Given the description of an element on the screen output the (x, y) to click on. 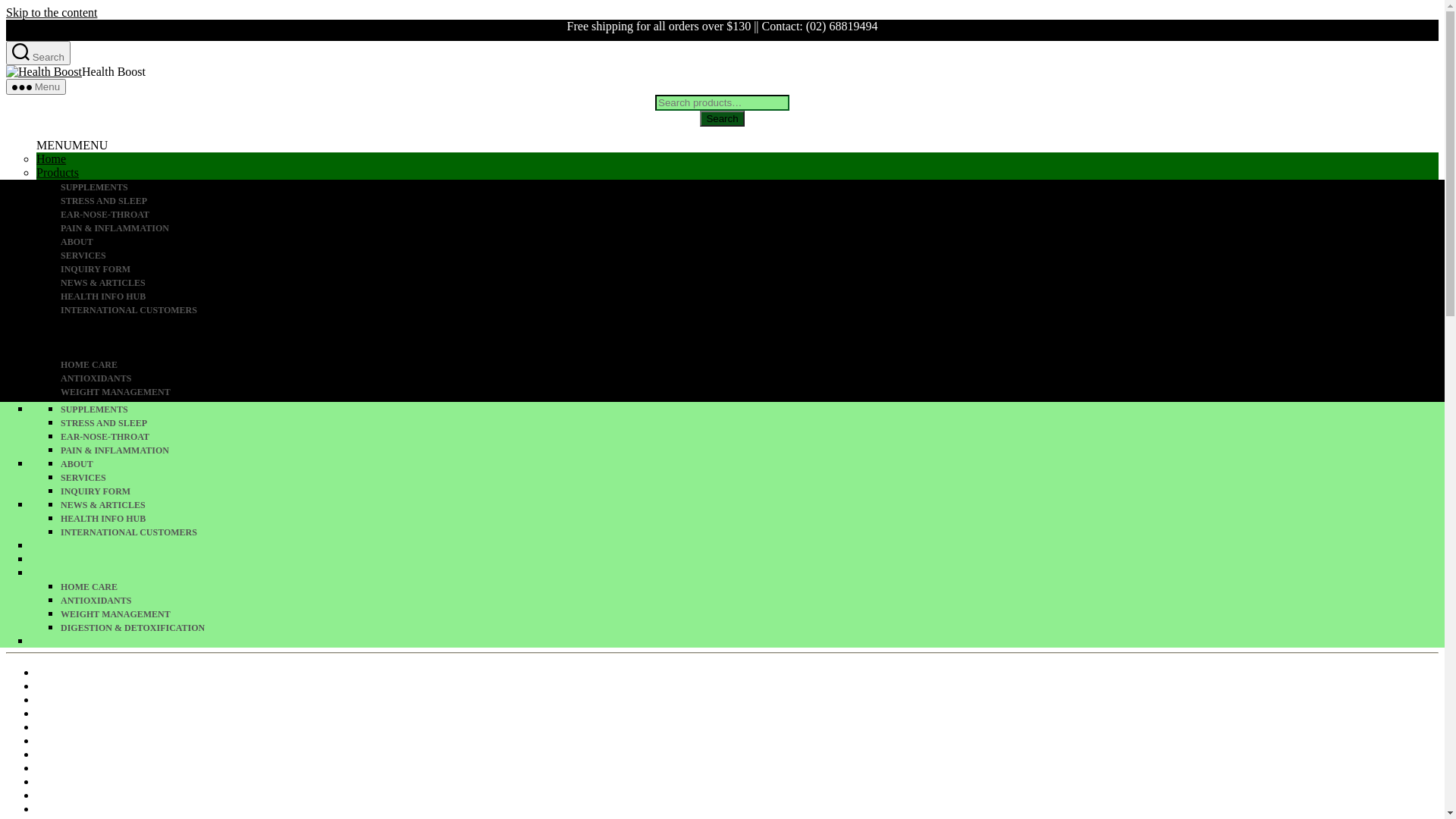
Search Element type: text (721, 118)
Bioceuticals Acetyl-L-Carnitine 90 Capsules Element type: text (145, 712)
Products Element type: text (57, 394)
IMMUNITY Element type: text (752, 310)
Menu Element type: text (35, 86)
Close search Element type: text (49, 319)
EAR-NOSE-THROAT Element type: text (752, 436)
IMMUNITY Element type: text (752, 532)
URINARY SYSTEM Element type: text (752, 491)
SUPPLEMENTS Element type: text (752, 409)
SKIN, HAIR & NAILS Element type: text (752, 241)
Home Element type: text (50, 158)
PAIN & INFLAMMATION Element type: text (752, 228)
SUGAR METABOLISM Element type: text (752, 573)
WEIGHT MANAGEMENT Element type: text (752, 392)
SUGAR METABOLISM Element type: text (752, 351)
EAR-NOSE-THROAT Element type: text (752, 214)
BONES, JOINTS AND MUSCLES Element type: text (752, 296)
WEIGHT MANAGEMENT Element type: text (752, 614)
Search Element type: text (241, 278)
Home Element type: text (50, 380)
DIGESTION & DETOXIFICATION Element type: text (752, 405)
ALLERGY Element type: text (752, 255)
COLD AND FLU Element type: text (752, 546)
STRESS AND SLEEP Element type: text (752, 423)
STRESS AND SLEEP Element type: text (752, 201)
Cell Squared Grass fed Beef Organs Powder 180g Element type: text (157, 753)
Checkout Element type: text (59, 421)
Primal Energy Beef liver capsules 120 Capsules Element type: text (152, 699)
PERSONAL CARE Element type: text (752, 337)
Cell Squared Beef Kidney 160 capsules Element type: text (132, 808)
Skip to the content Element type: text (51, 12)
Cell Squared Beef Heart 160 capsules Element type: text (128, 781)
Search Element type: text (38, 52)
CARDIO HEART HEALTH Element type: text (752, 505)
Ancestral Nutrition Primal Energy Women 120 capsules Element type: text (172, 671)
Contact Element type: text (55, 213)
BONES, JOINTS AND MUSCLES Element type: text (752, 518)
ANTIOXIDANTS Element type: text (752, 600)
CARDIO HEART HEALTH Element type: text (752, 282)
Bioceuticals ArmaForce 60 tablets Element type: text (119, 726)
DIGESTION & DETOXIFICATION Element type: text (752, 627)
SKIN, HAIR & NAILS Element type: text (752, 464)
Checkout Element type: text (59, 199)
ALLERGY Element type: text (752, 477)
Cell Squared Beef liver 160 capsules Element type: text (126, 794)
HOME CARE Element type: text (752, 587)
COLD AND FLU Element type: text (752, 323)
Cart Element type: text (46, 407)
Cart Element type: text (46, 185)
PERSONAL CARE Element type: text (752, 559)
Products Element type: text (57, 172)
HOME CARE Element type: text (752, 364)
Primal Multi 100% Grass Fed Beef Organs 120 Capsules Element type: text (174, 685)
Search Element type: text (38, 258)
PAIN & INFLAMMATION Element type: text (752, 450)
More Element type: text (49, 226)
Contact Element type: text (55, 435)
Close Menu Element type: text (46, 338)
ANTIOXIDANTS Element type: text (752, 378)
Search Element type: text (241, 574)
More Element type: text (49, 448)
SUPPLEMENTS Element type: text (752, 187)
URINARY SYSTEM Element type: text (752, 269)
